Given the description of an element on the screen output the (x, y) to click on. 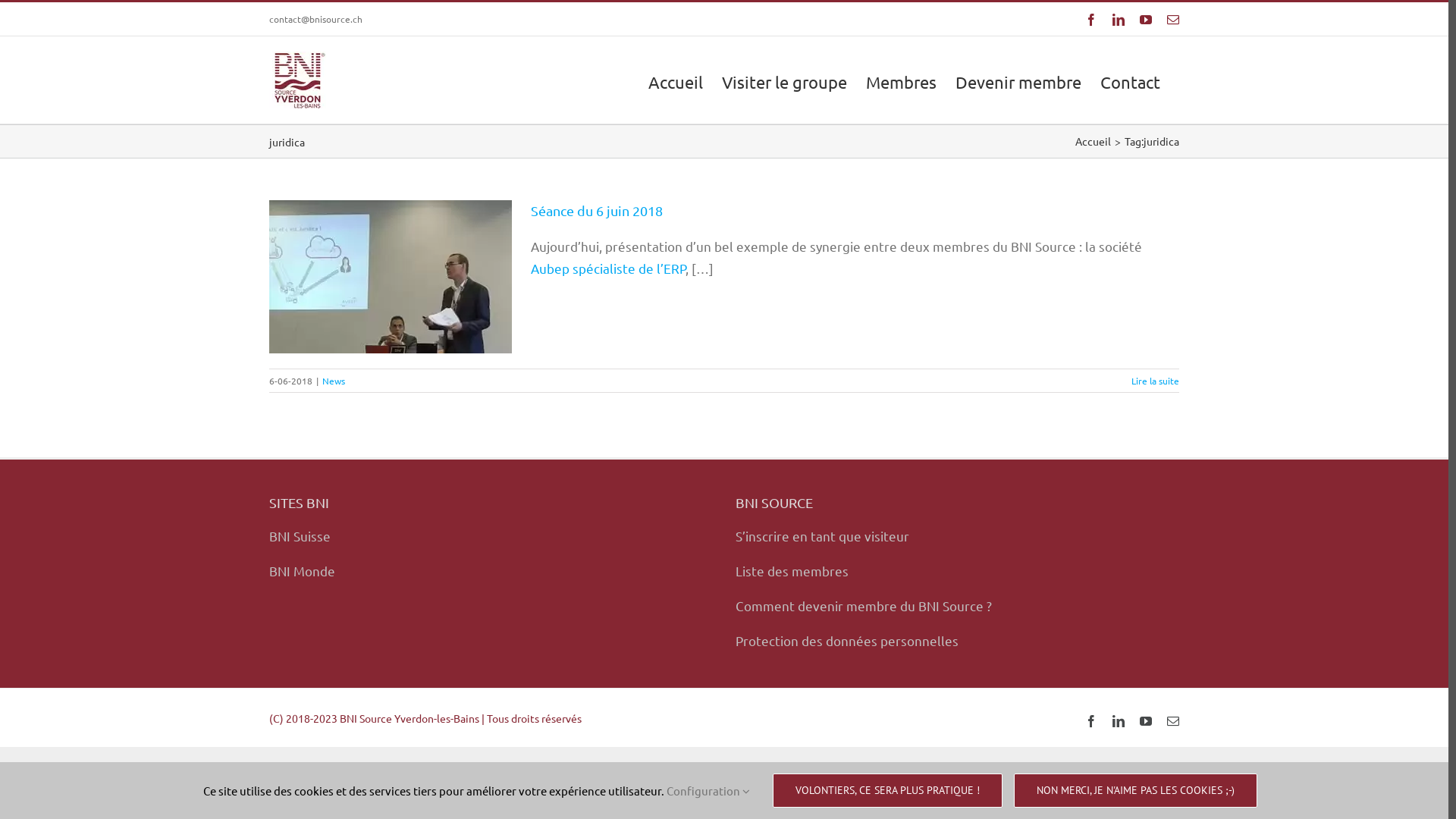
contact@bnisource.ch Element type: text (315, 18)
BNI Monde Element type: text (302, 570)
BNI Suisse Element type: text (299, 535)
Comment devenir membre du BNI Source ? Element type: text (863, 605)
LinkedIn Element type: text (1118, 721)
Facebook Element type: text (1091, 721)
Accueil Element type: text (675, 79)
Liste des membres Element type: text (791, 570)
Configuration Element type: text (707, 790)
Accueil Element type: text (1092, 140)
LinkedIn Element type: text (1118, 19)
News Element type: text (333, 380)
NON MERCI, JE N'AIME PAS LES COOKIES ;-) Element type: text (1134, 790)
Email Element type: text (1173, 721)
YouTube Element type: text (1145, 19)
VOLONTIERS, CE SERA PLUS PRATIQUE ! Element type: text (886, 790)
Membres Element type: text (901, 79)
Lire la suite Element type: text (1155, 380)
Facebook Element type: text (1091, 19)
YouTube Element type: text (1145, 721)
Contact Element type: text (1130, 79)
Visiter le groupe Element type: text (784, 79)
Devenir membre Element type: text (1018, 79)
Email Element type: text (1173, 19)
